Given the description of an element on the screen output the (x, y) to click on. 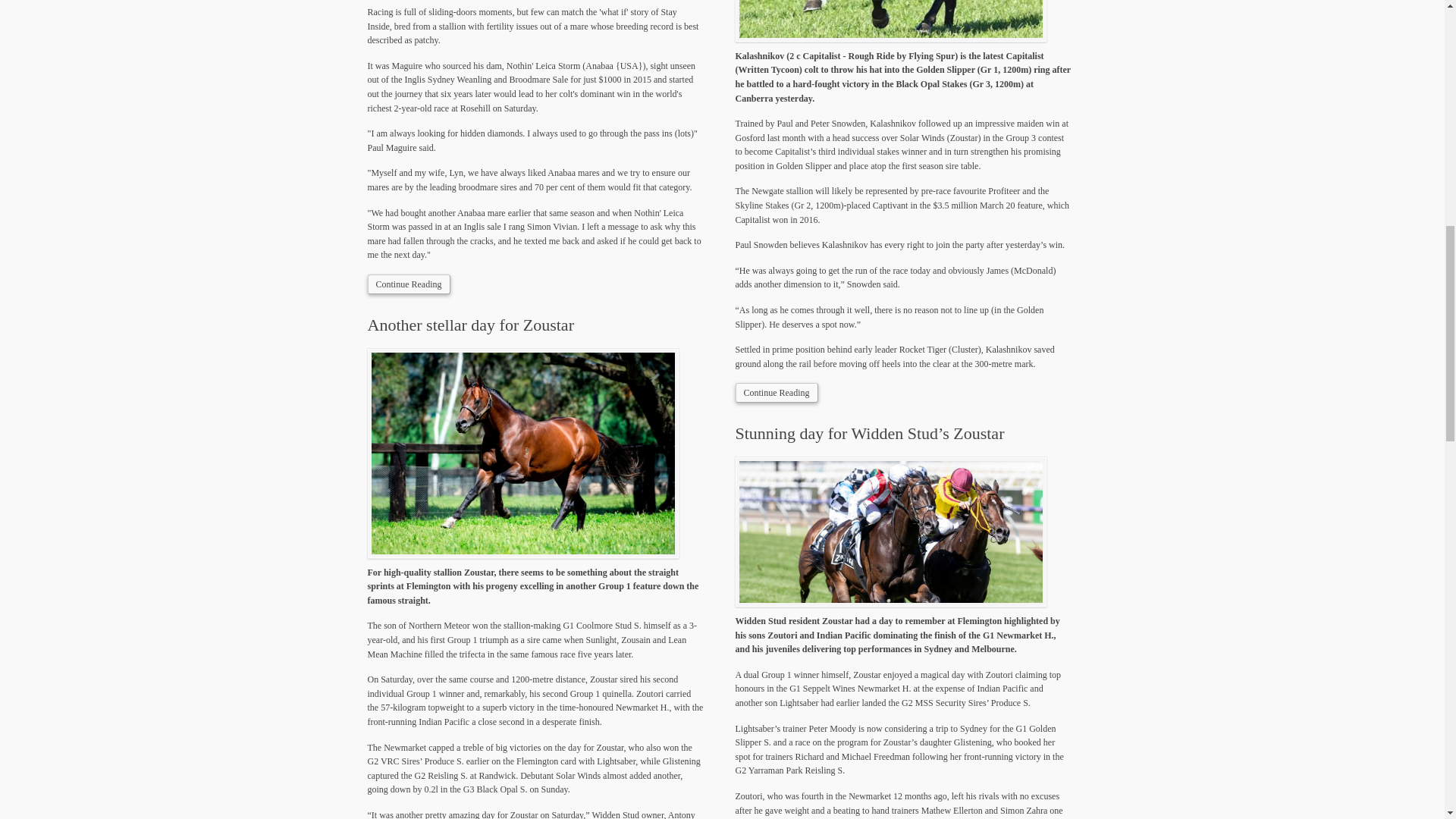
Continue Reading (776, 392)
Continue Reading (407, 284)
Maguire's miracle mating sets up Slipper success (407, 284)
